Given the description of an element on the screen output the (x, y) to click on. 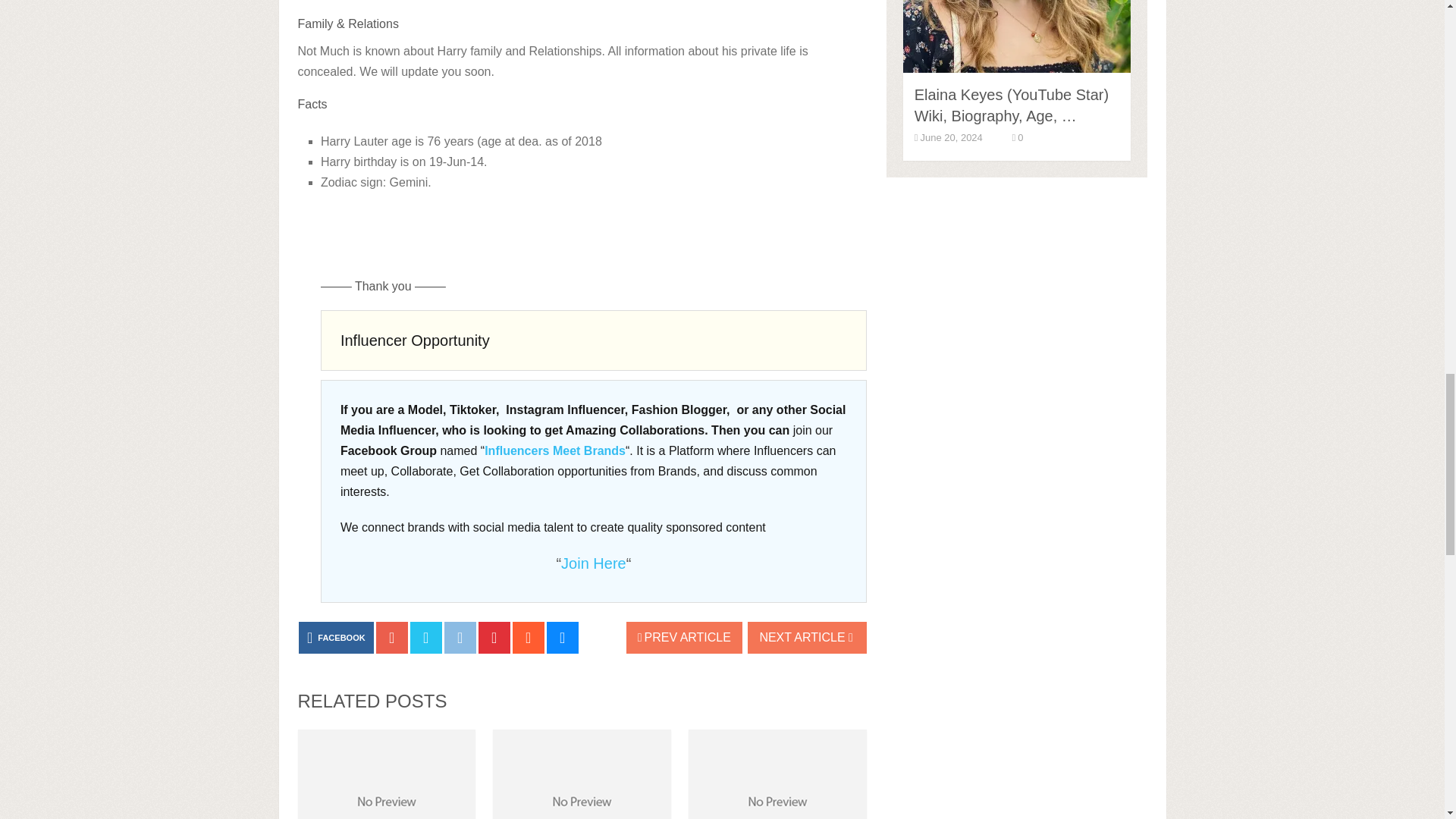
PREV ARTICLE (684, 637)
NEXT ARTICLE (807, 637)
FACEBOOK (336, 637)
Join Here (593, 563)
Influencers Meet Brands (555, 450)
